Given the description of an element on the screen output the (x, y) to click on. 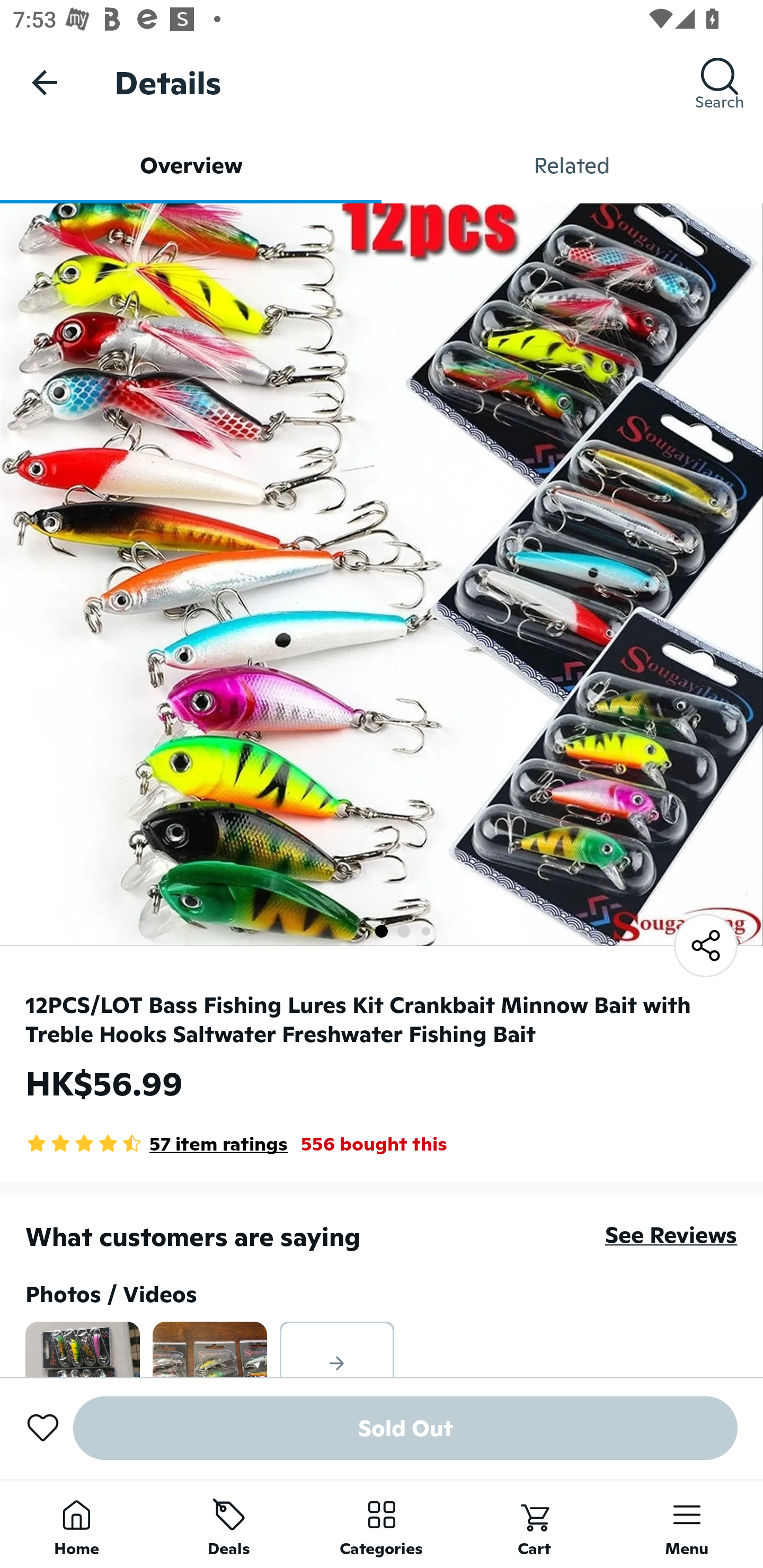
Navigate up (44, 82)
Search (719, 82)
Related (572, 165)
4.3 Star Rating 57 item ratings (156, 1143)
See Reviews (671, 1234)
Right arrow (337, 1348)
Sold Out (405, 1428)
Home (76, 1523)
Deals (228, 1523)
Categories (381, 1523)
Cart (533, 1523)
Menu (686, 1523)
